Given the description of an element on the screen output the (x, y) to click on. 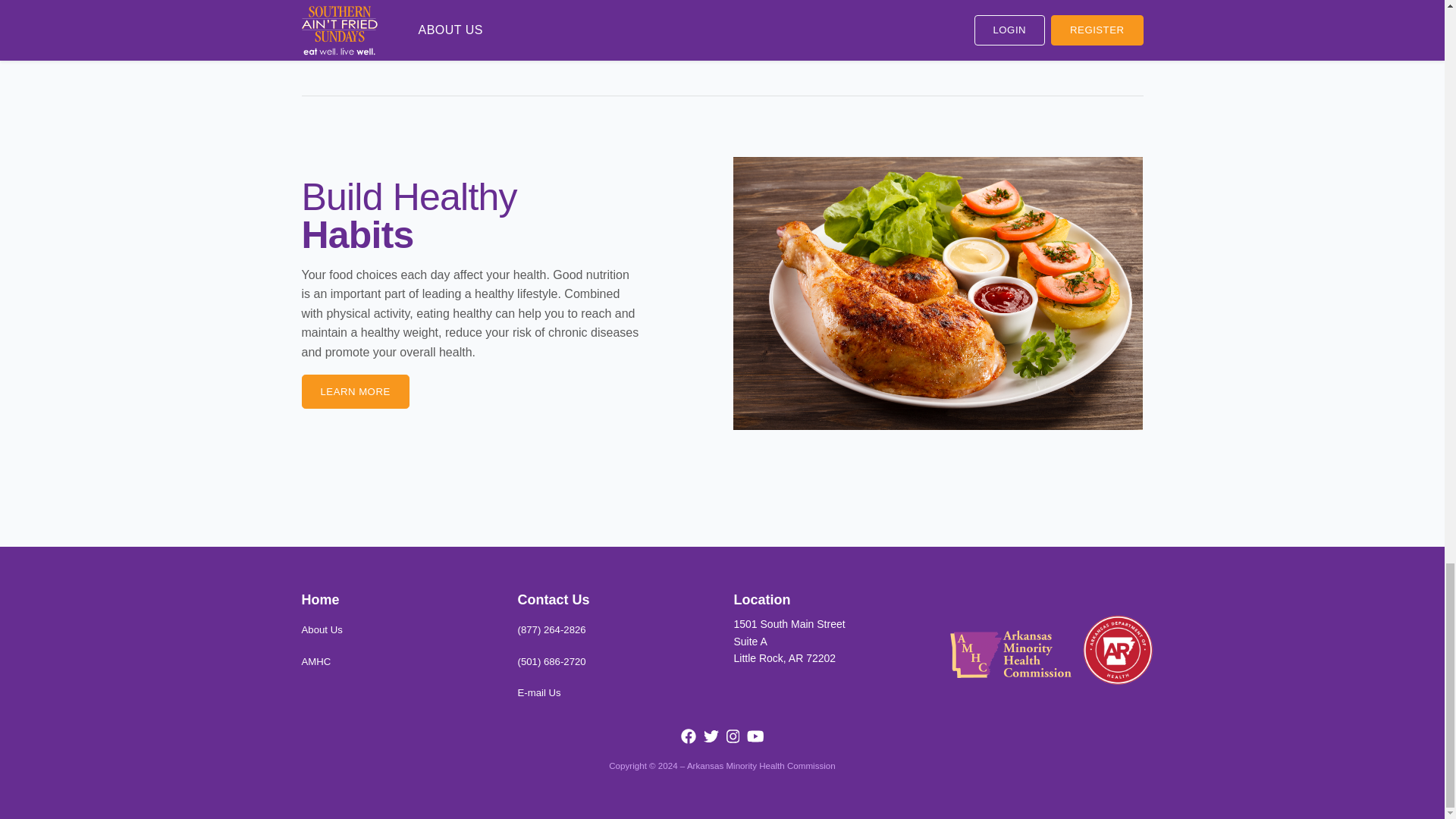
LEARN MORE (830, 640)
About Us (355, 391)
AMHC (321, 629)
E-mail Us (316, 661)
